Given the description of an element on the screen output the (x, y) to click on. 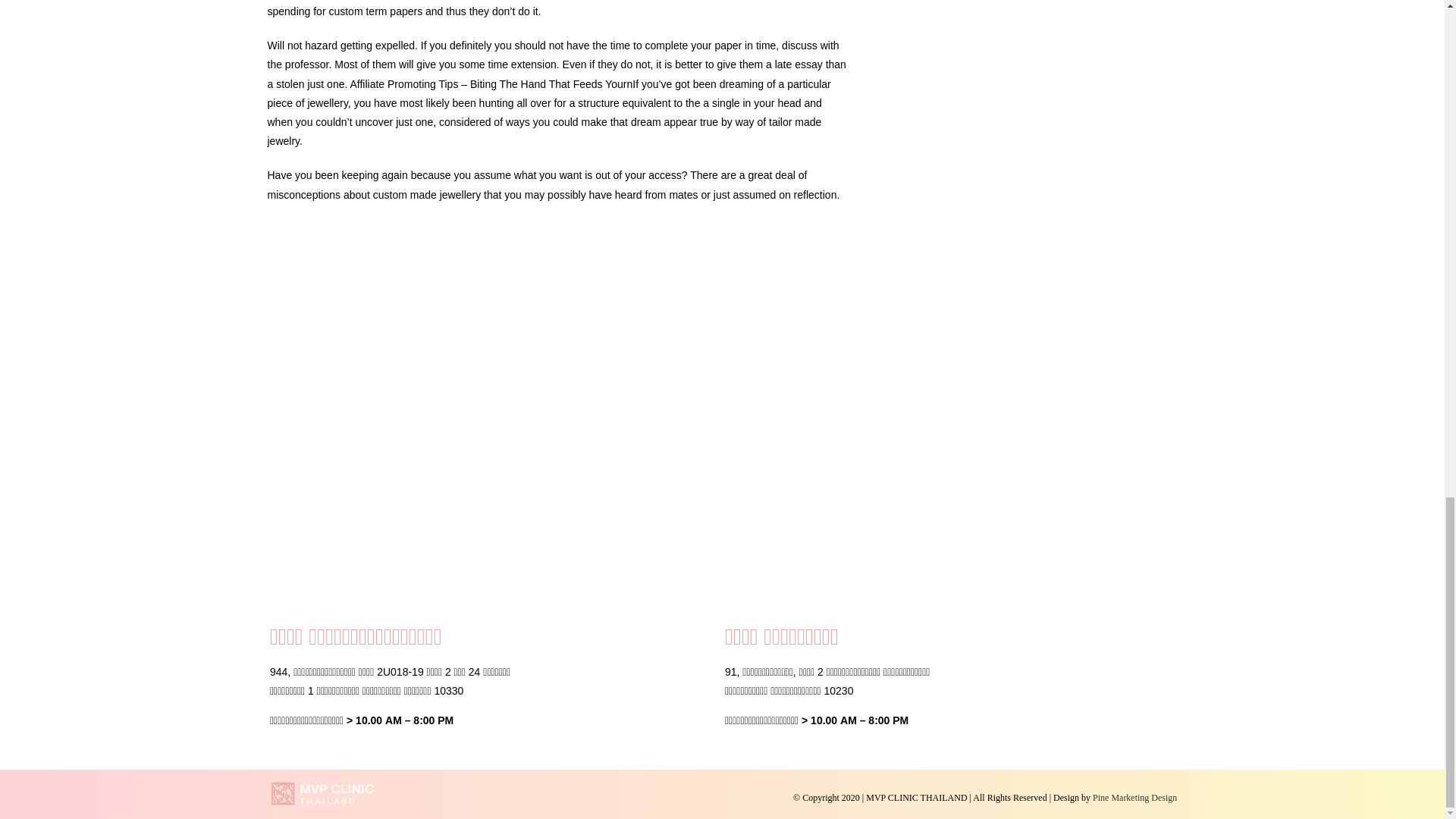
iconlogo4 (323, 793)
